Given the description of an element on the screen output the (x, y) to click on. 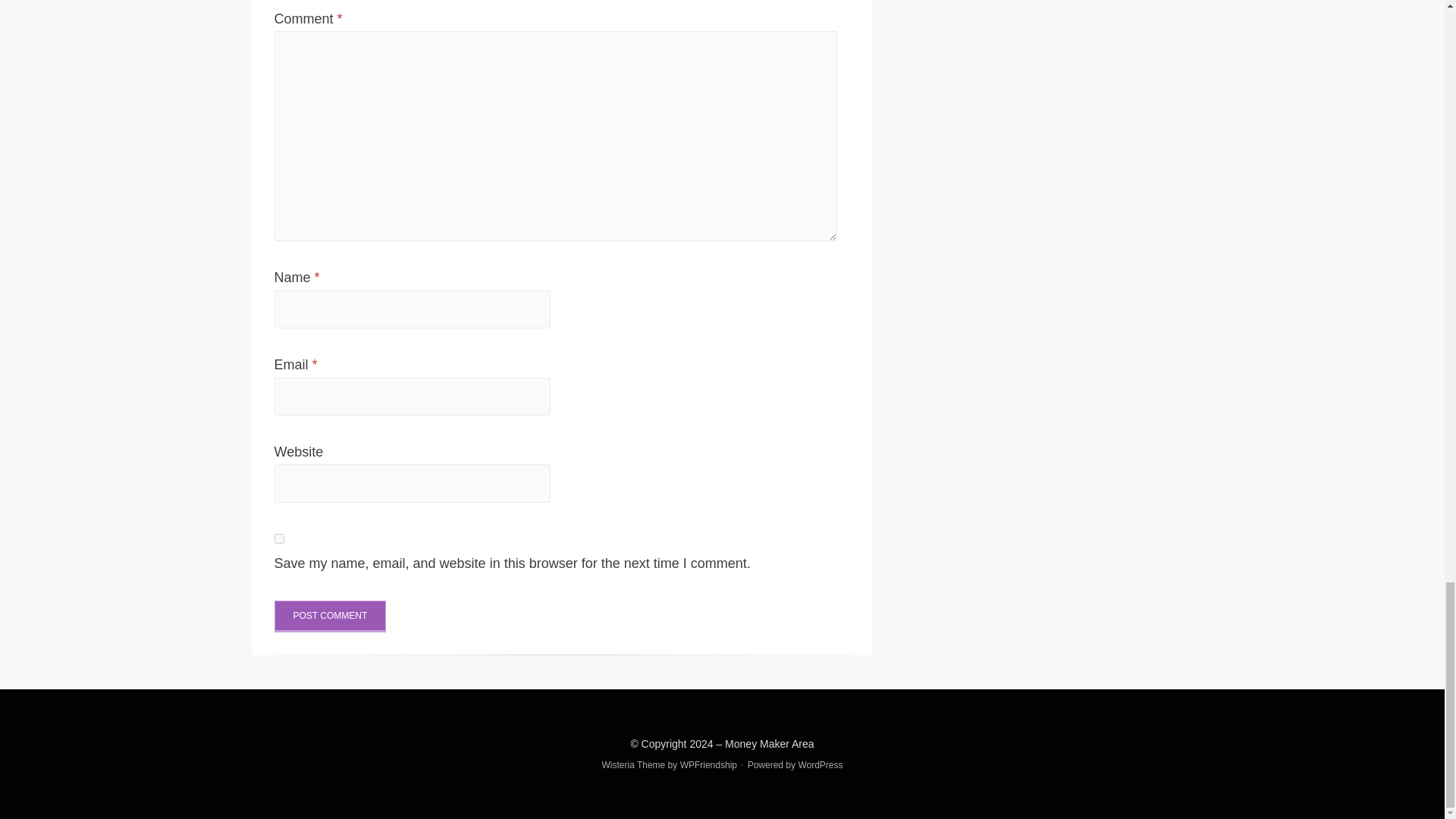
yes (279, 538)
WordPress (820, 765)
WordPress (820, 765)
WPFriendship (707, 765)
Money Maker Area (769, 743)
WPFriendship (707, 765)
Post Comment (331, 616)
Post Comment (331, 616)
